Given the description of an element on the screen output the (x, y) to click on. 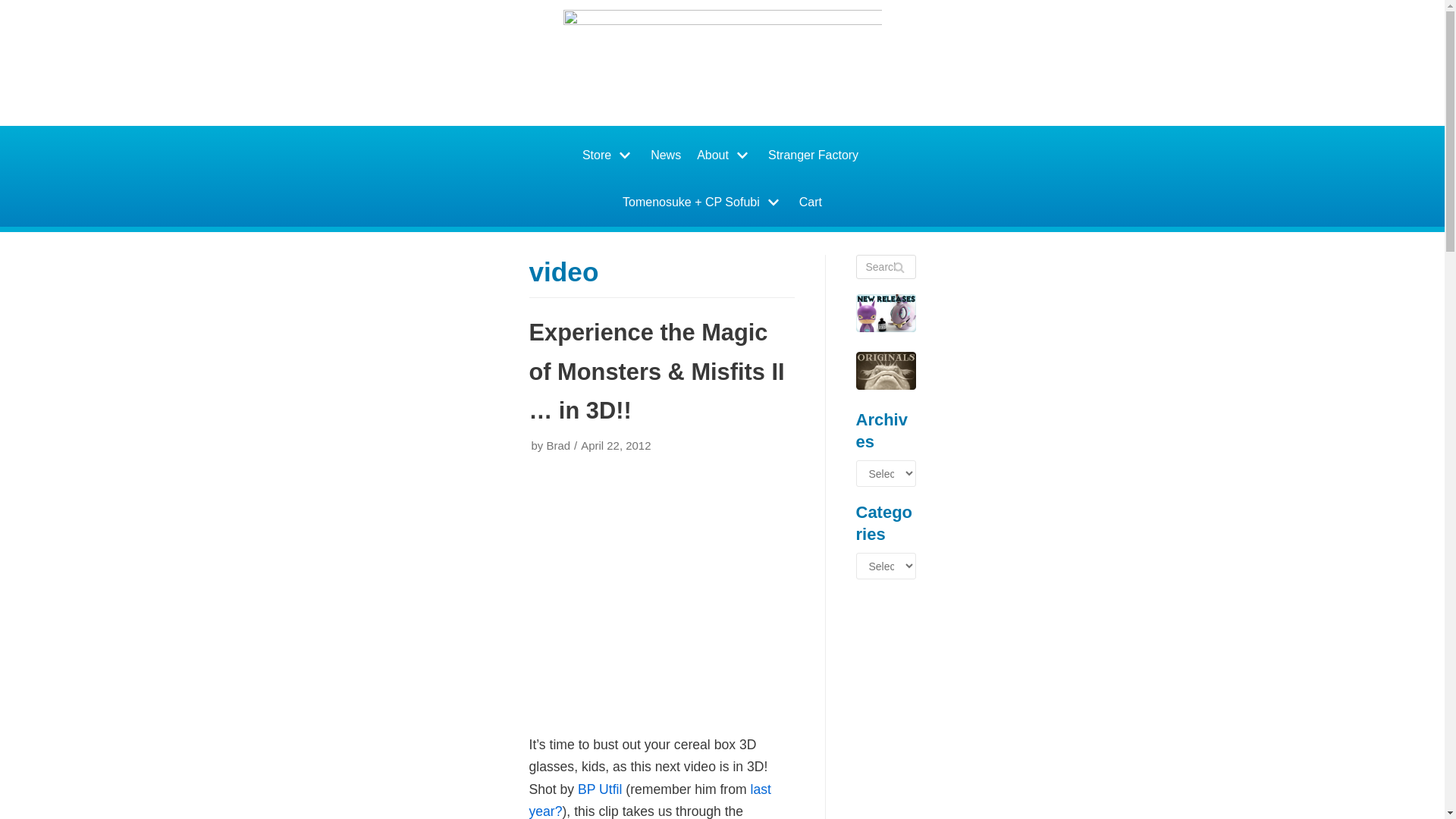
News (666, 155)
Cart (810, 203)
Store (608, 155)
About (724, 155)
Posts by Brad (558, 445)
Stranger Factory (812, 155)
Skip to content (15, 7)
